Given the description of an element on the screen output the (x, y) to click on. 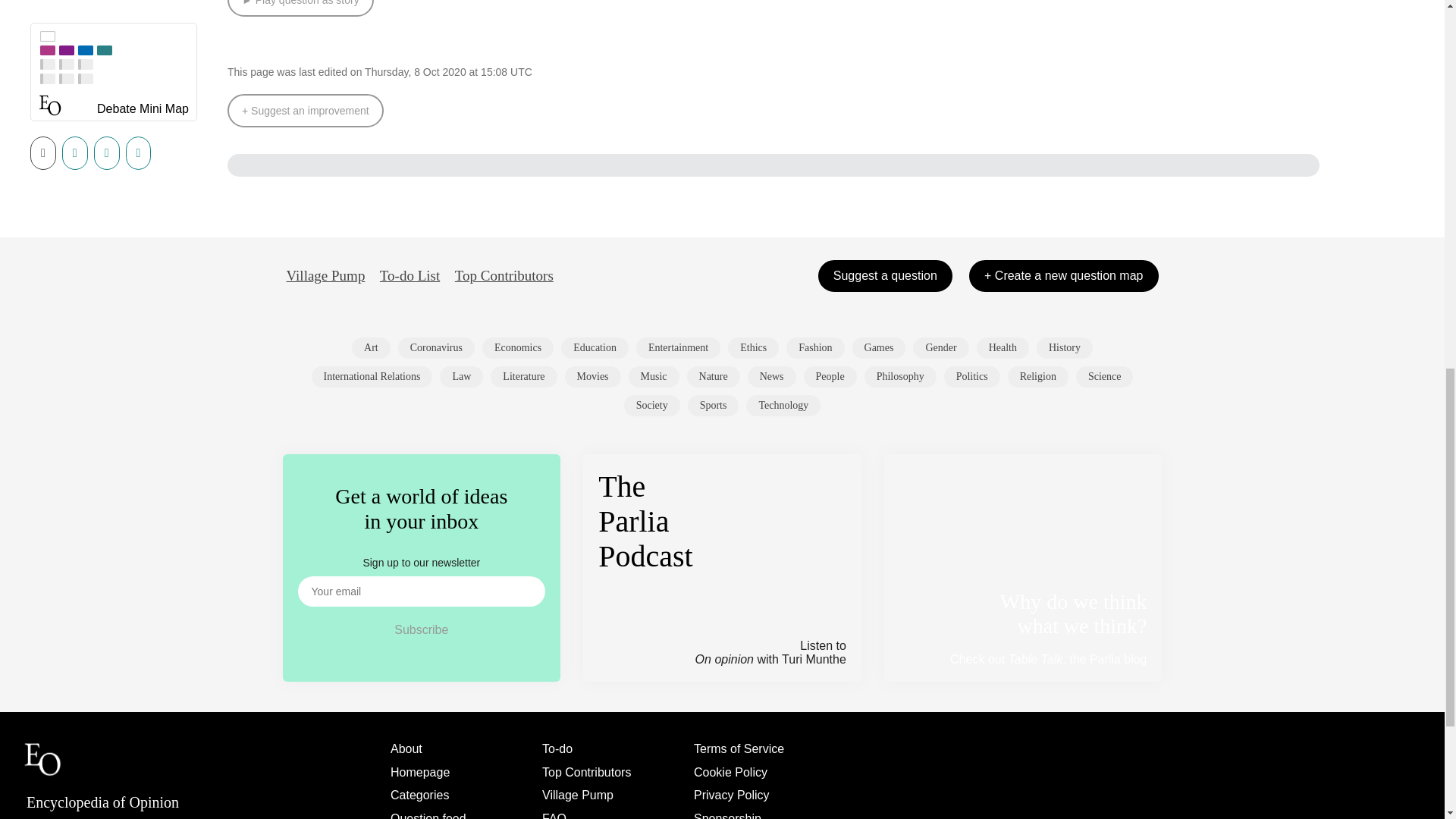
To-do List (409, 275)
Category item (371, 347)
Category item (523, 376)
Category item (594, 347)
Suggest a question (885, 275)
Category item (461, 376)
Category item (435, 347)
Village Pump (325, 275)
Category item (1064, 347)
Category item (653, 376)
Category item (815, 347)
Category item (940, 347)
Category item (592, 376)
Category item (678, 347)
Category item (753, 347)
